Given the description of an element on the screen output the (x, y) to click on. 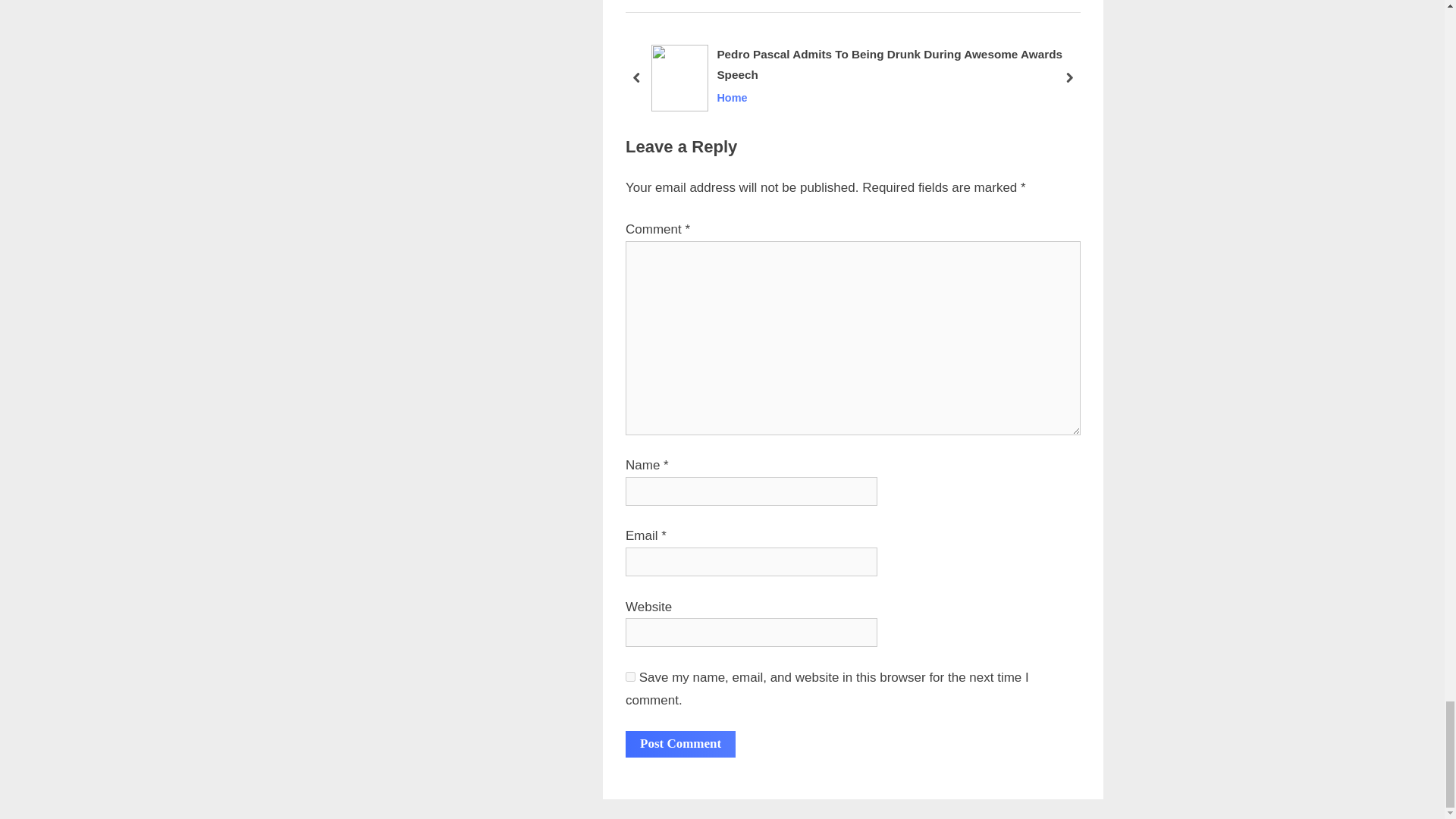
yes (630, 676)
Post Comment (680, 744)
